Given the description of an element on the screen output the (x, y) to click on. 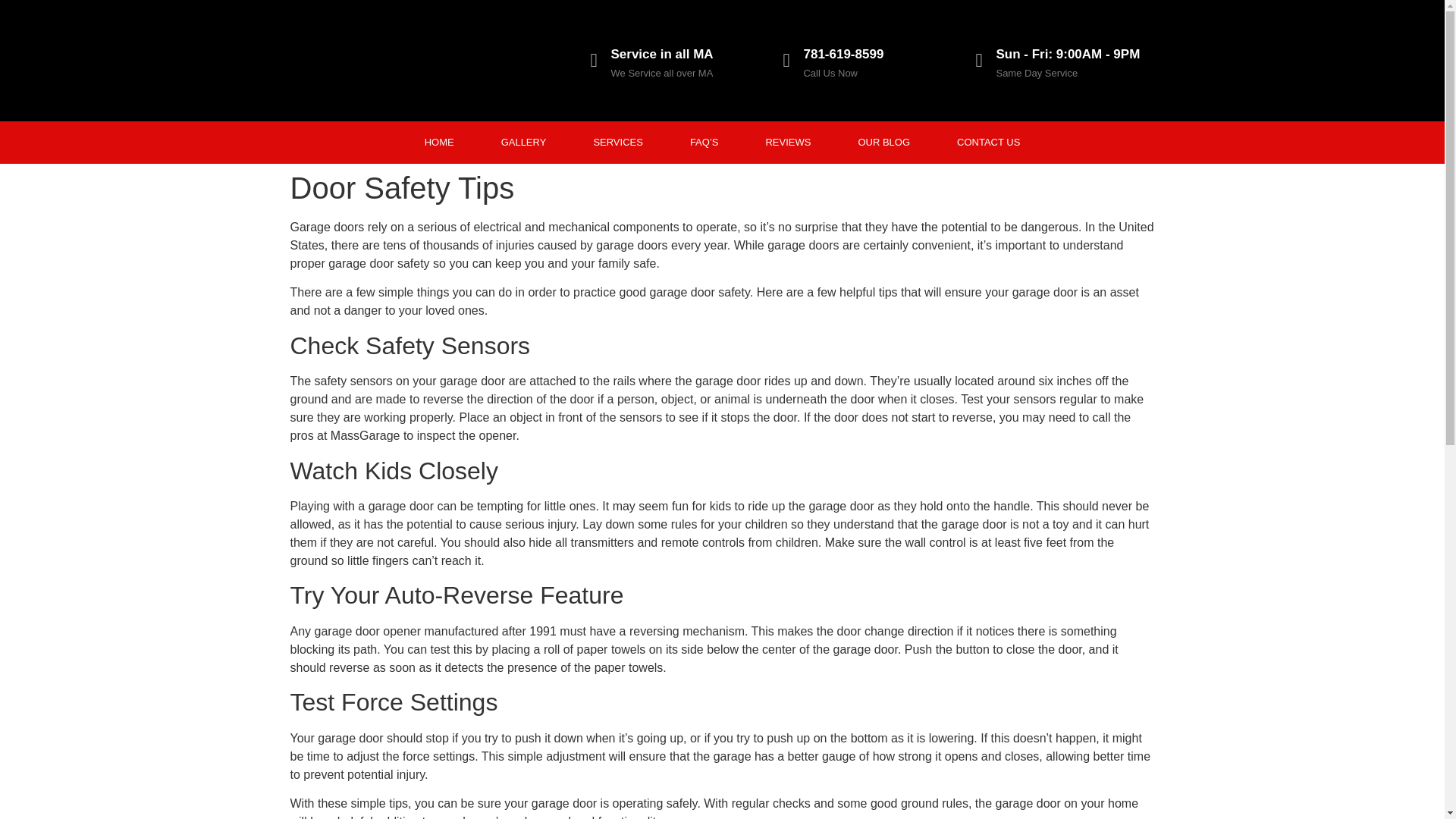
CONTACT US (988, 142)
SERVICES (617, 142)
OUR BLOG (883, 142)
HOME (439, 142)
GALLERY (523, 142)
REVIEWS (787, 142)
